Given the description of an element on the screen output the (x, y) to click on. 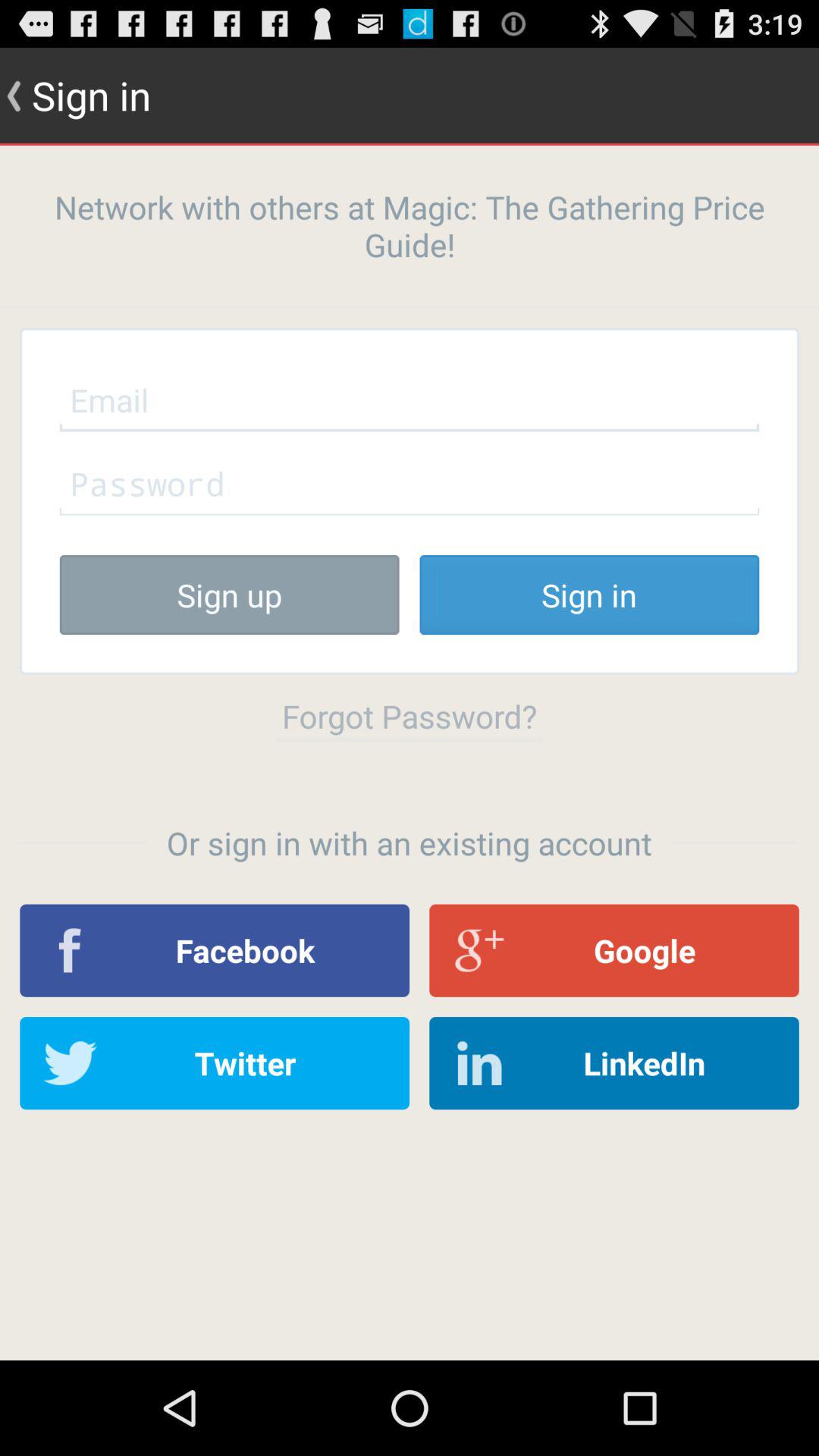
launch the icon next to the linkedin app (214, 1062)
